Given the description of an element on the screen output the (x, y) to click on. 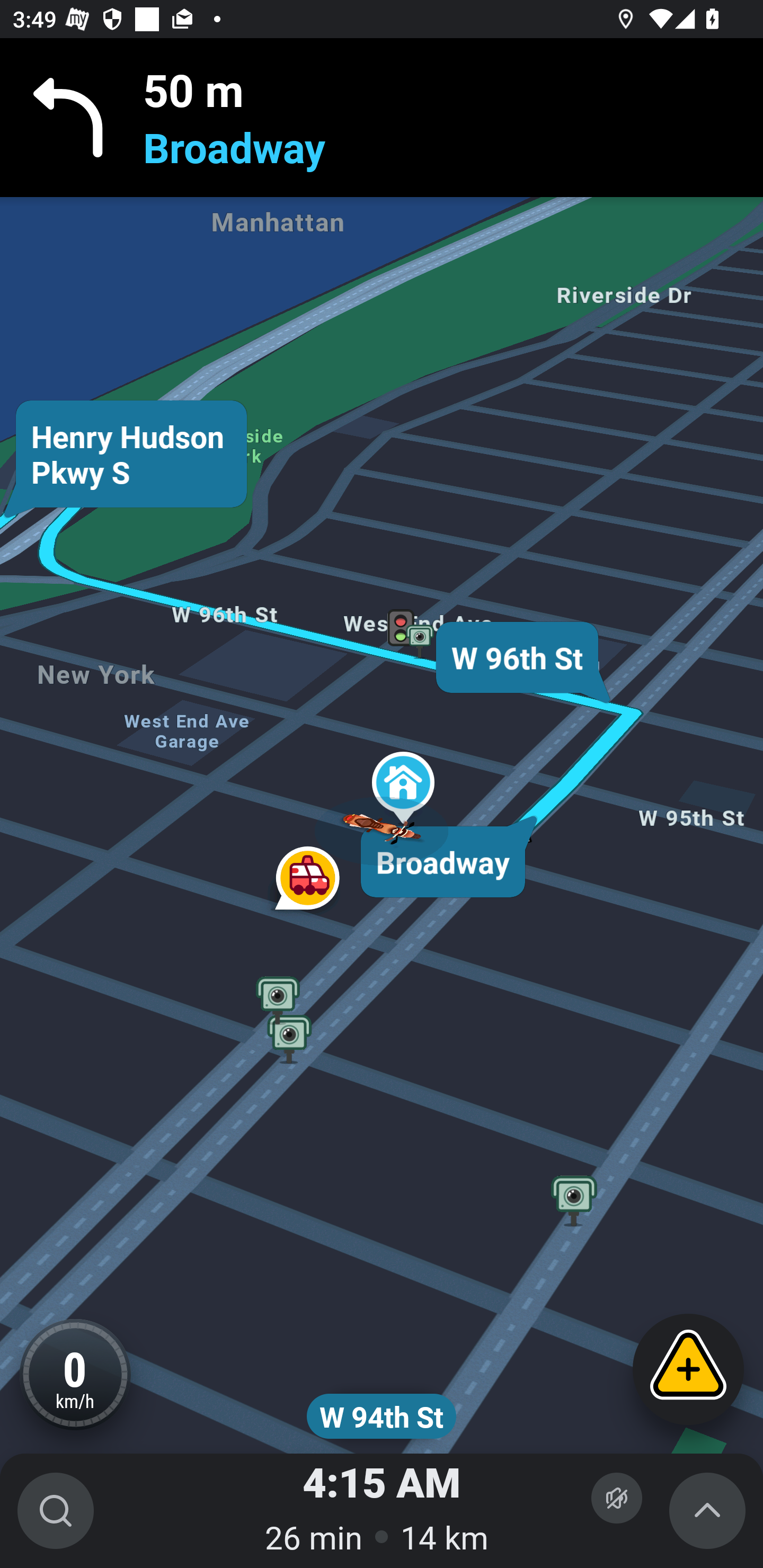
50 m Broadway (381, 117)
4:15 AM 26 min 14 km (381, 1510)
